Given the description of an element on the screen output the (x, y) to click on. 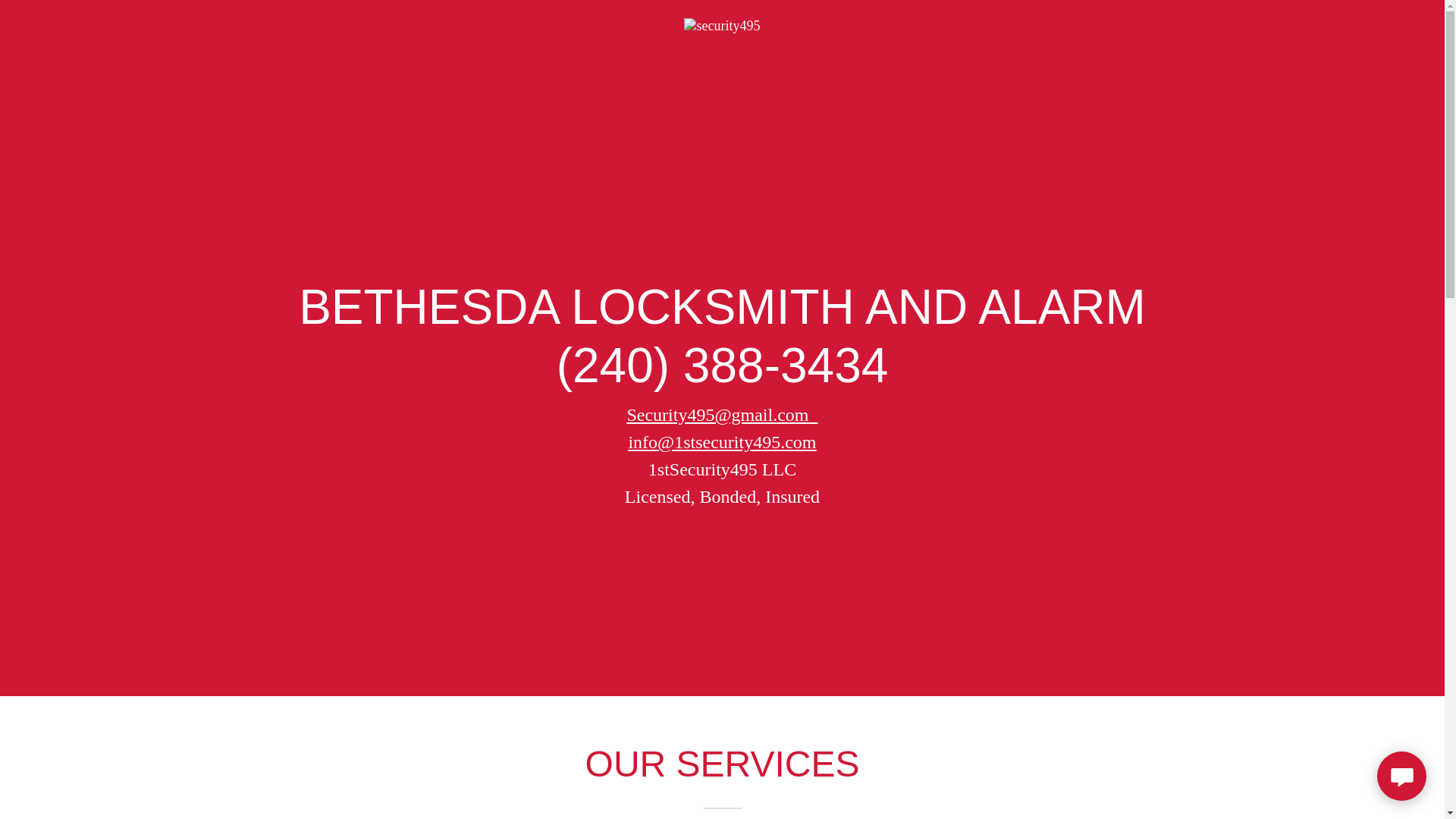
Security495@gmail.com Element type: text (717, 414)
info@1stsecurity495.com Element type: text (721, 441)
security495 Element type: hover (721, 24)
